Given the description of an element on the screen output the (x, y) to click on. 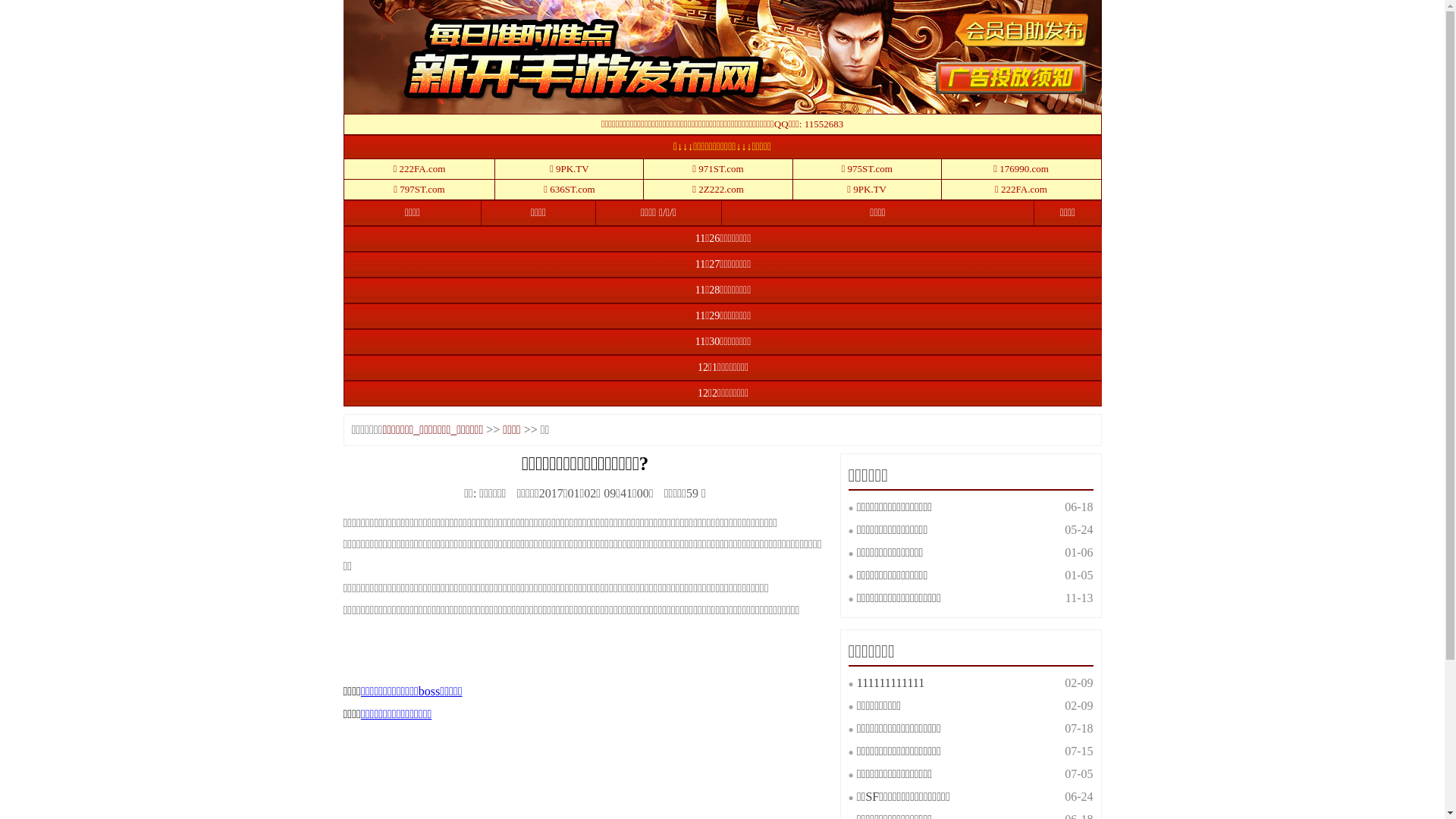
111111111111 Element type: text (890, 682)
